Given the description of an element on the screen output the (x, y) to click on. 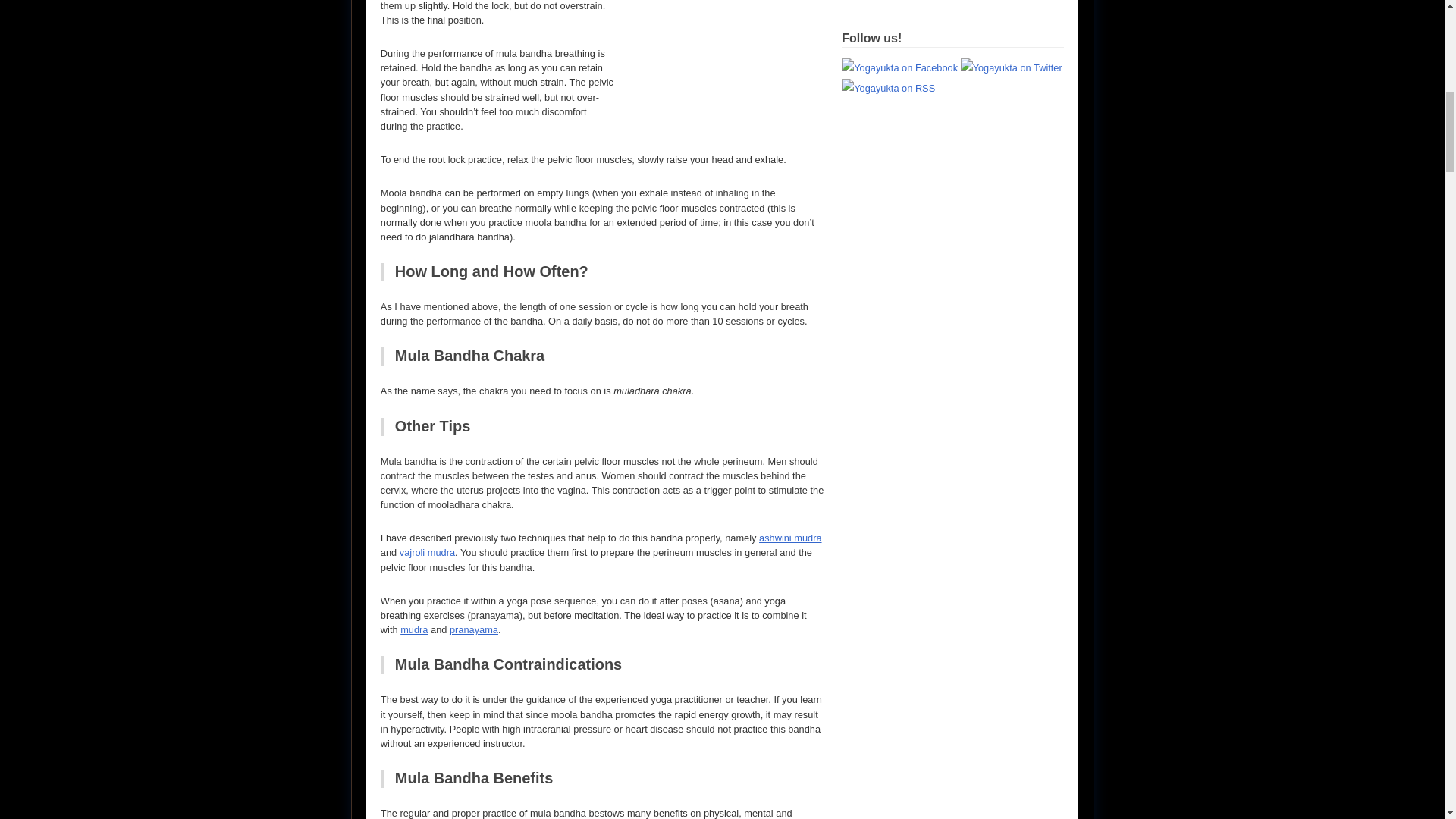
Subscribe to our RSS (887, 88)
Vajroli Mudra or Thunderbolt Mudra (426, 552)
vajroli mudra (426, 552)
ashwini mudra (790, 537)
Follow us on Twitter (1011, 68)
pranayama (473, 629)
Ashwini Mudra Practice and Its Benefits (790, 537)
Follow us on Facebook (899, 68)
mula bandha practice (729, 48)
mudra (414, 629)
